Given the description of an element on the screen output the (x, y) to click on. 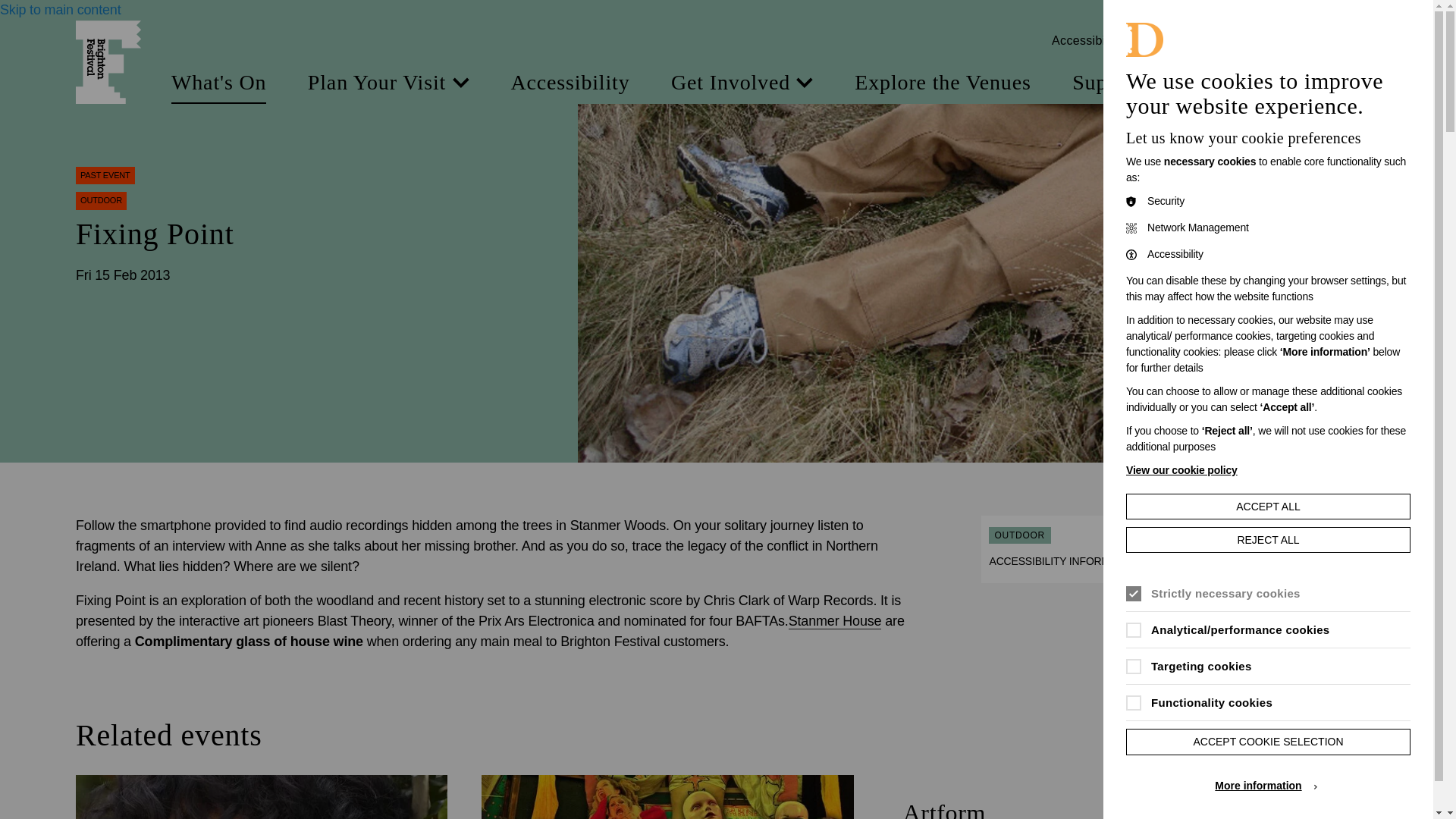
Accessibility (569, 83)
Explore the Venues (942, 83)
Stanmer House (835, 621)
Skip to main content (60, 9)
Skip to main content (60, 9)
Accessibility (569, 83)
What's On (218, 83)
Explore the Venues (942, 83)
Festival News (1304, 83)
Search (1335, 40)
